Given the description of an element on the screen output the (x, y) to click on. 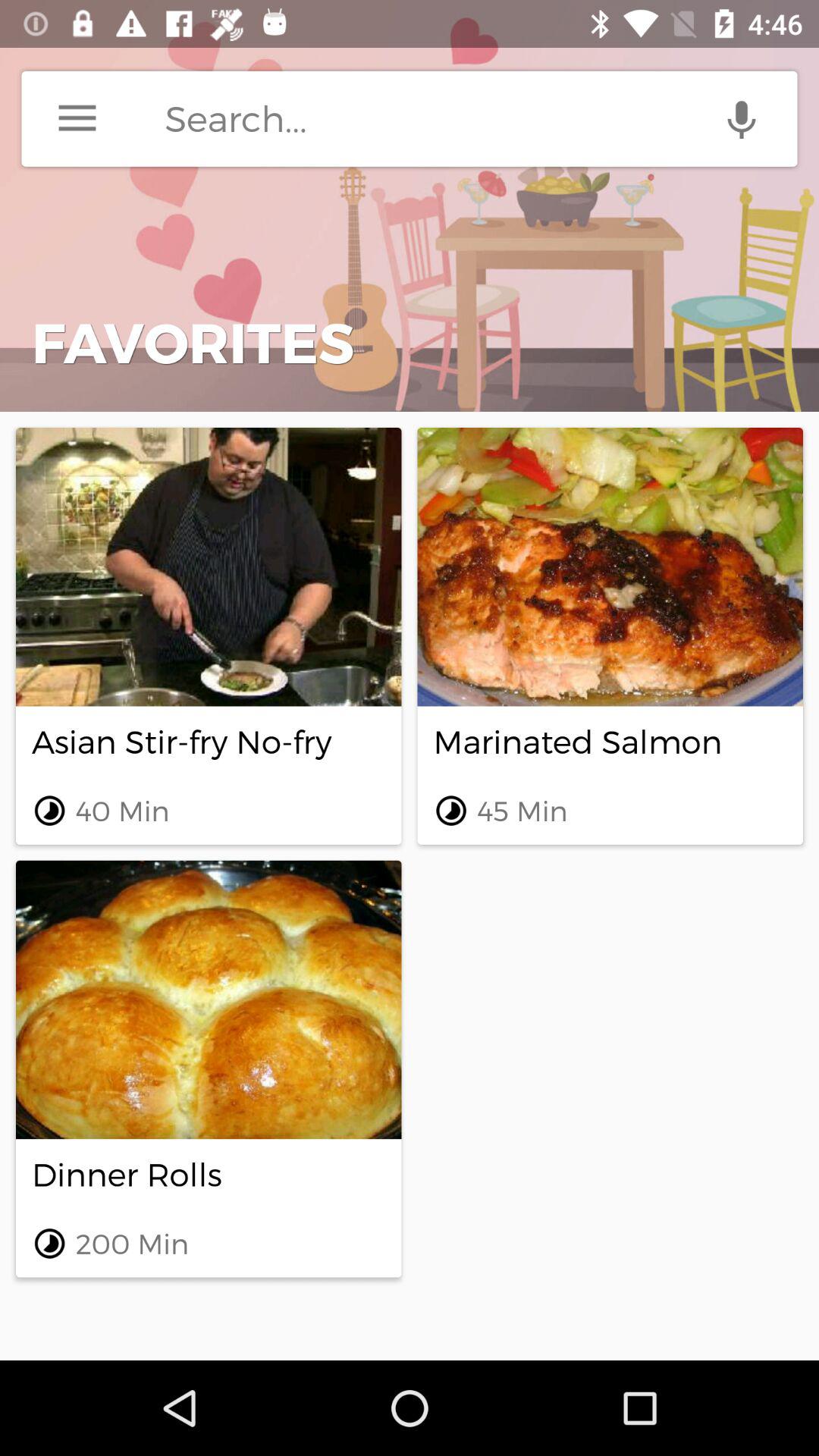
use voice enabled search option (741, 118)
